Given the description of an element on the screen output the (x, y) to click on. 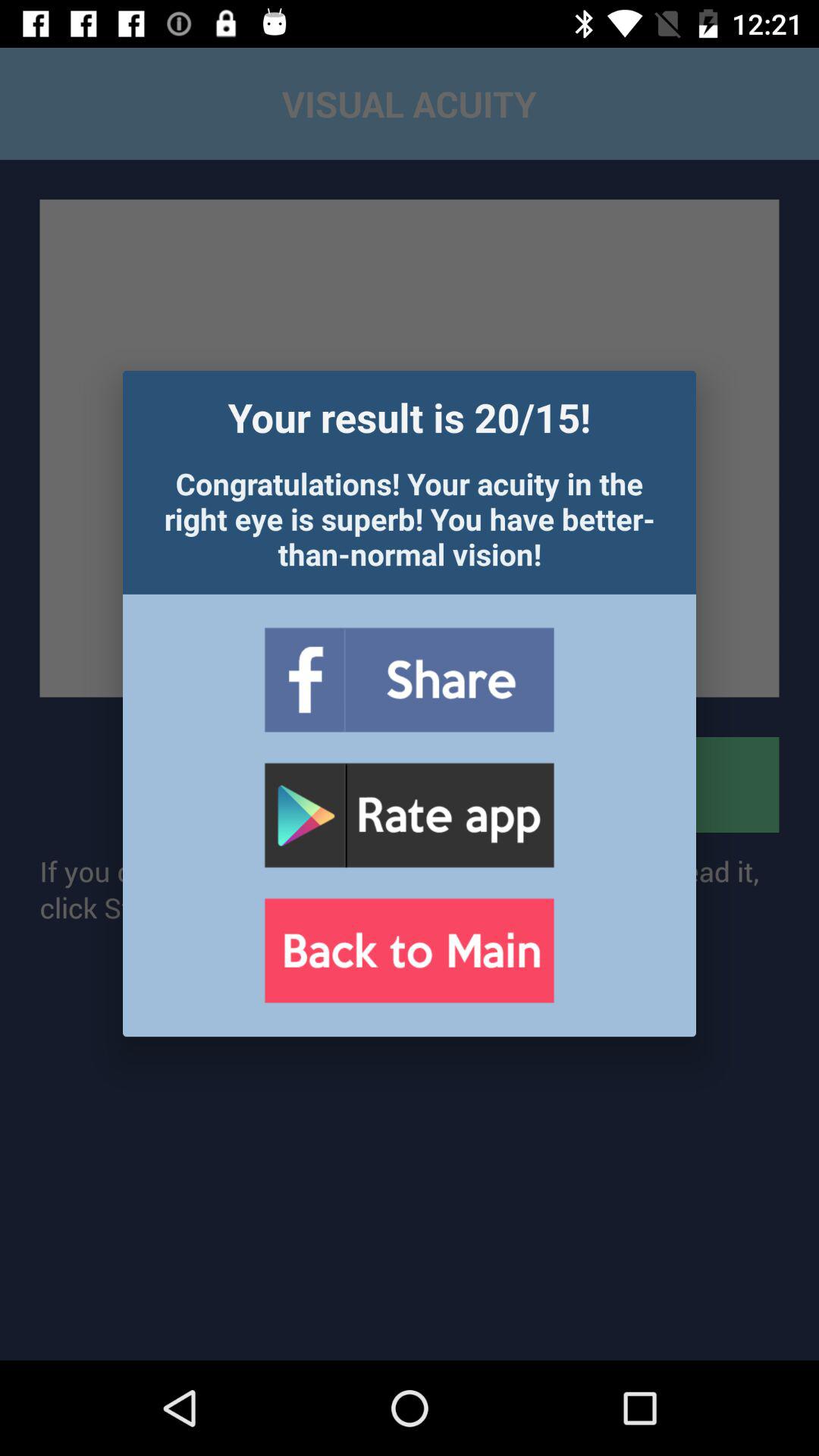
rate app (408, 815)
